Given the description of an element on the screen output the (x, y) to click on. 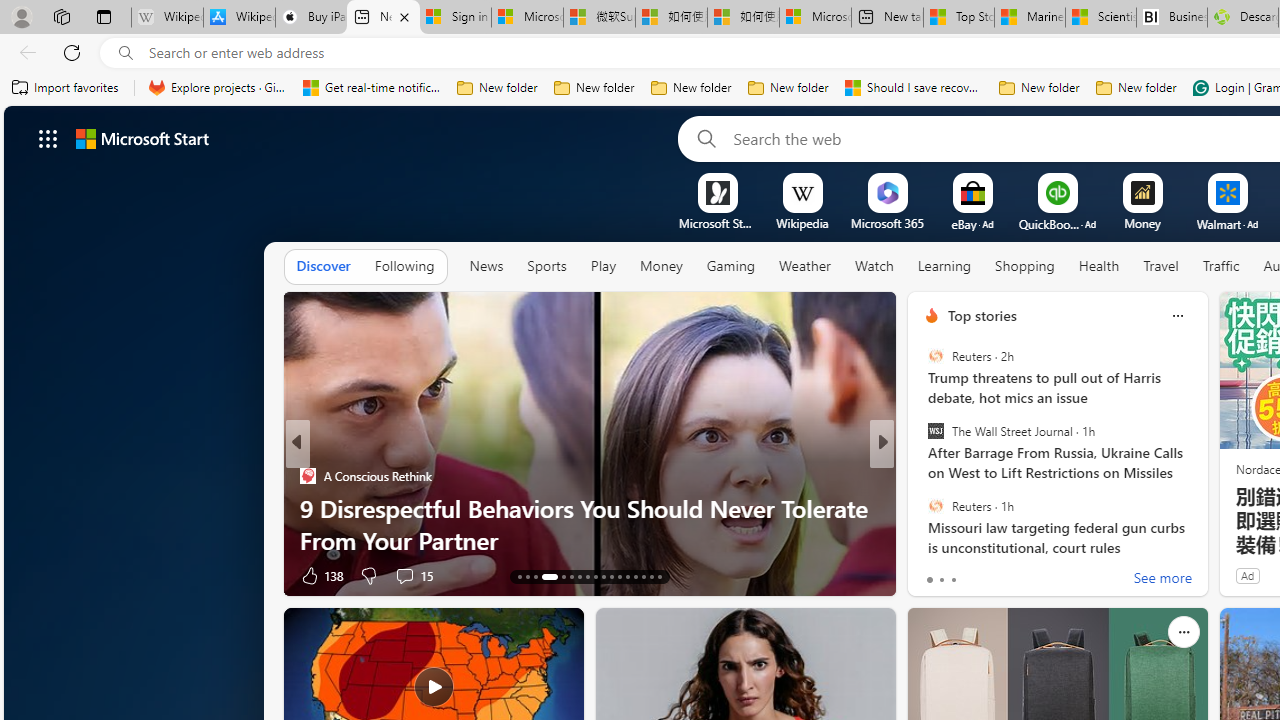
View comments 55 Comment (1029, 574)
View comments 4 Comment (1019, 574)
11 Like (934, 574)
The Weather Channel (923, 475)
AutomationID: tab-34 (635, 576)
AutomationID: tab-37 (659, 576)
